Given the description of an element on the screen output the (x, y) to click on. 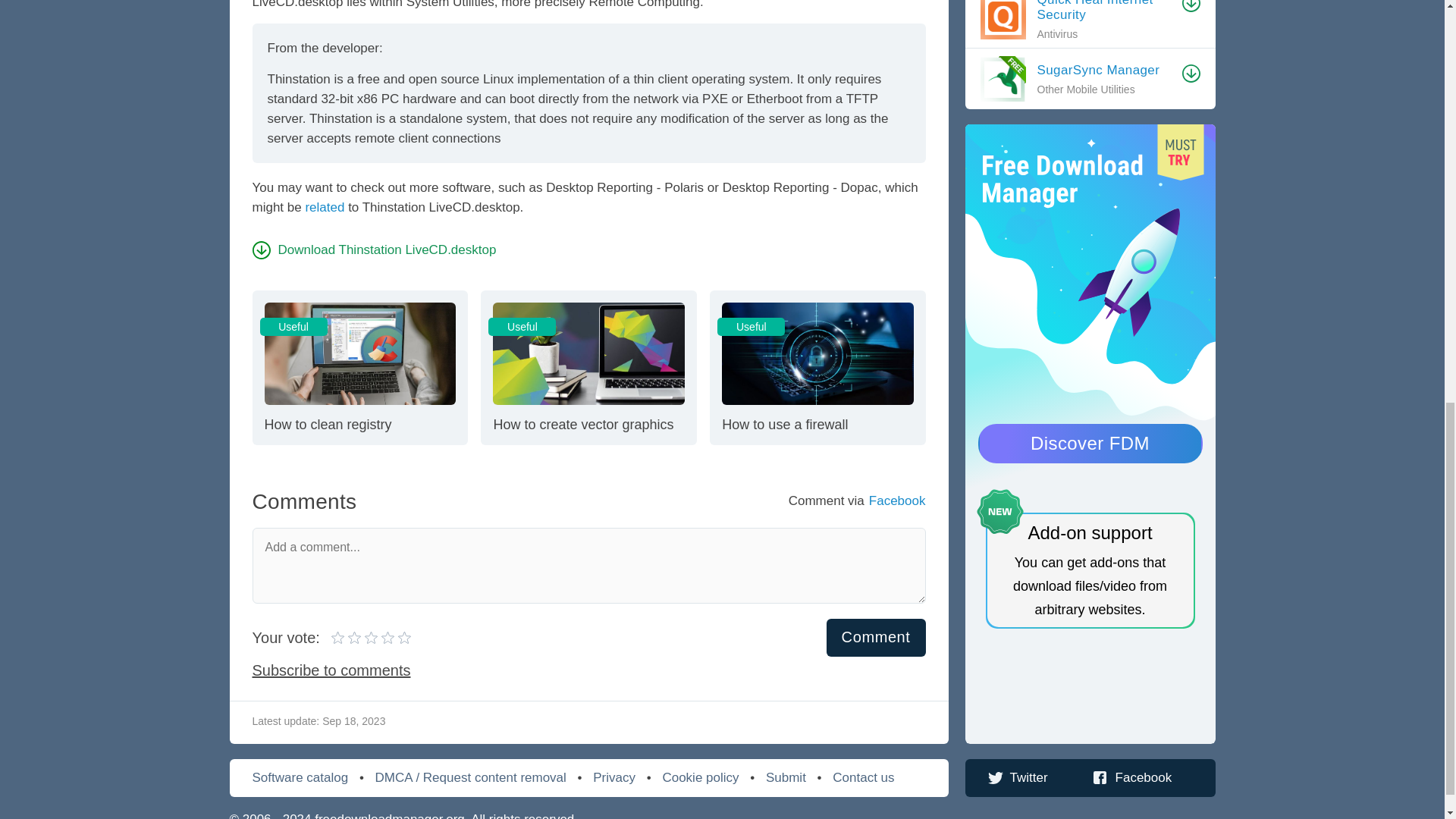
4 (817, 366)
2 (363, 636)
3 (346, 636)
Comment (355, 636)
1 (876, 637)
Download Thinstation LiveCD.desktop (338, 636)
Comment (373, 249)
related (359, 366)
